Given the description of an element on the screen output the (x, y) to click on. 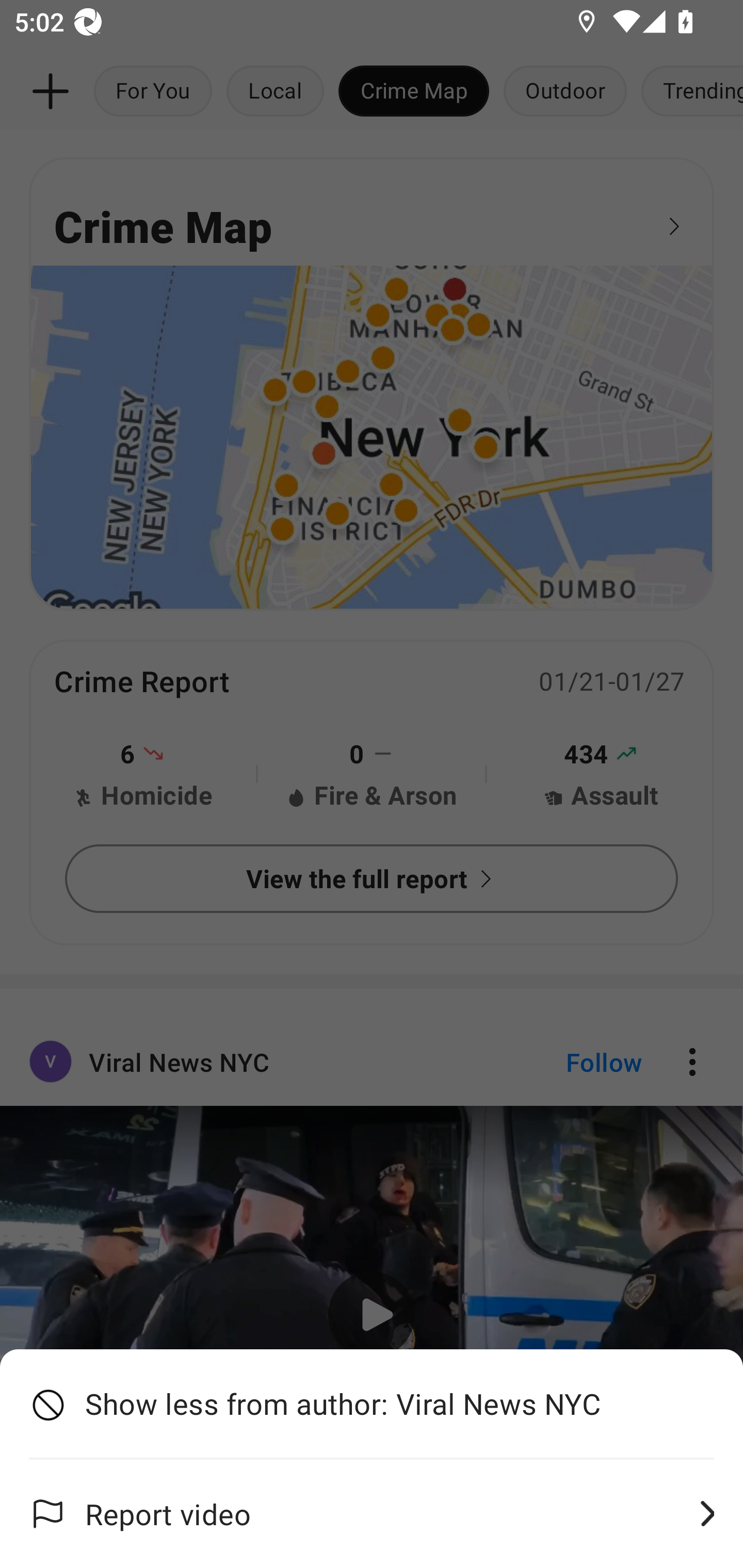
Show less from author: Viral News NYC  (371, 1404)
Report video (371, 1513)
